Given the description of an element on the screen output the (x, y) to click on. 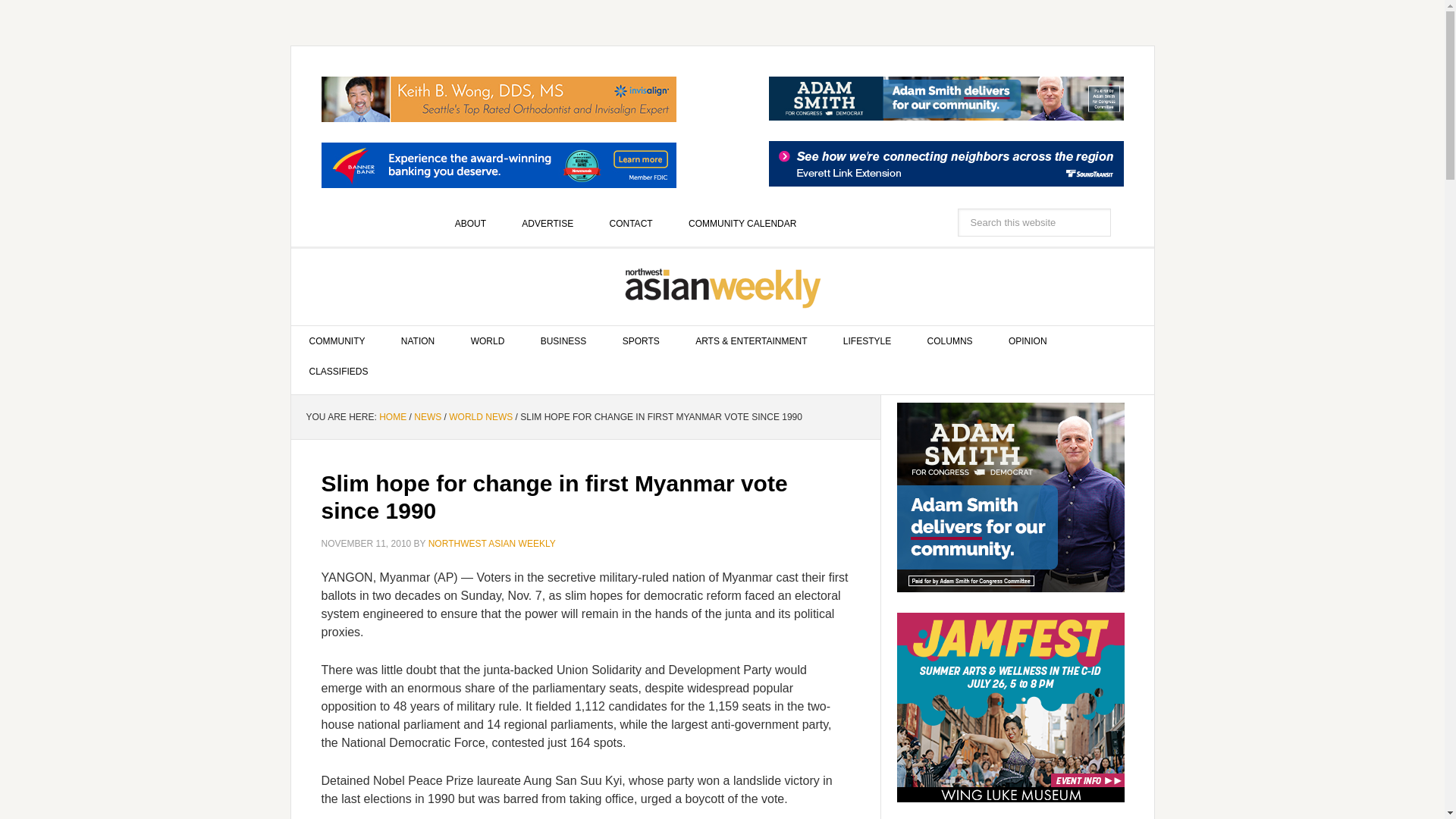
BUSINESS (563, 340)
CONTACT (631, 223)
ABOUT (469, 223)
WORLD (487, 340)
NEWS (427, 416)
COLUMNS (949, 340)
SPORTS (641, 340)
LIFESTYLE (866, 340)
COMMUNITY (337, 340)
NORTHWEST ASIAN WEEKLY (722, 286)
ADVERTISE (547, 223)
CLASSIFIEDS (339, 371)
